Given the description of an element on the screen output the (x, y) to click on. 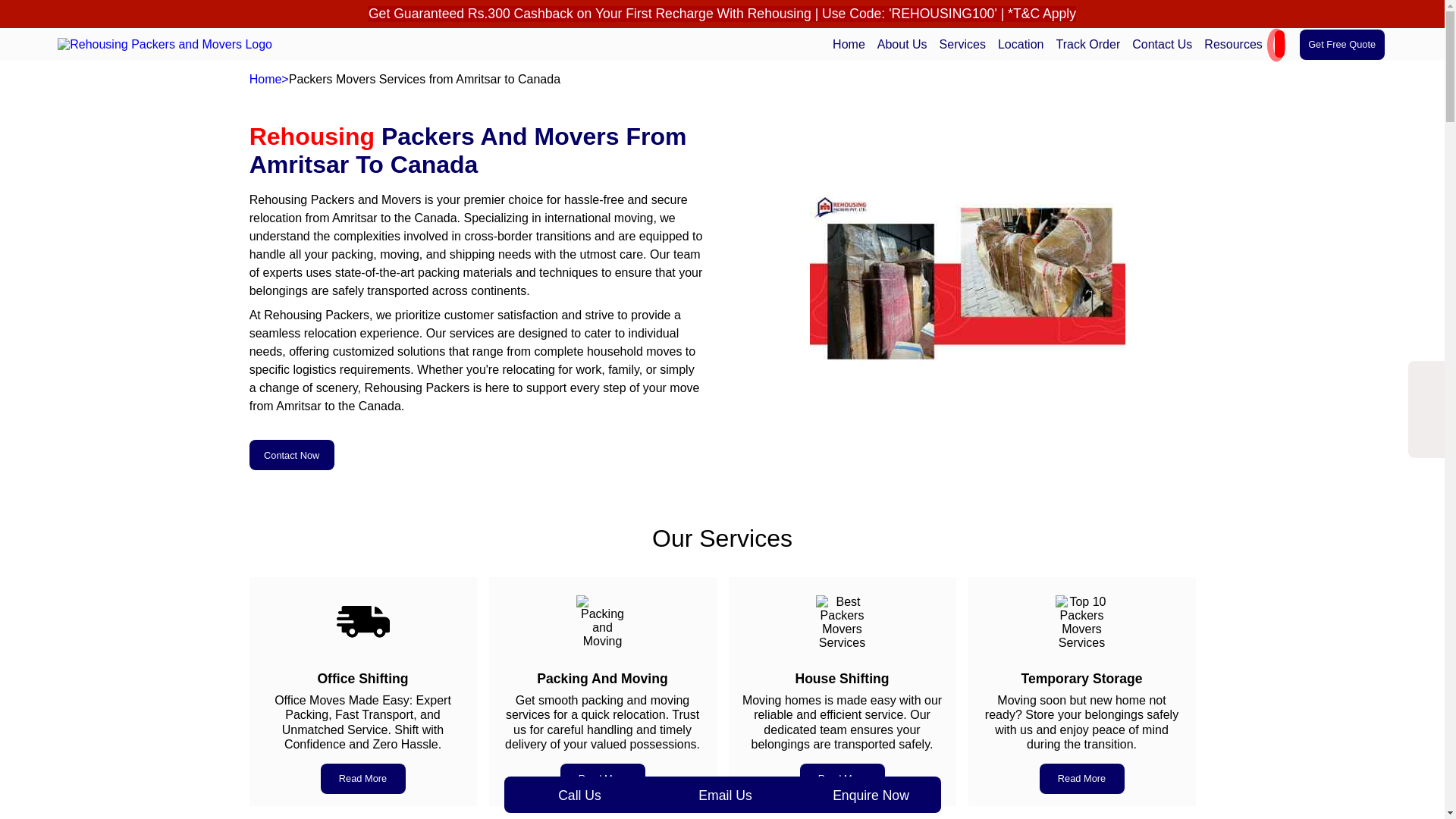
Contact Us (1162, 43)
Bill For Claim (1233, 62)
Dehli (1021, 62)
Rehousing Packers and Movers Logo (165, 44)
Gallery (1219, 62)
Pet Transportation (991, 65)
Reviews (1222, 62)
View All Location (1046, 62)
Office Shifting (981, 65)
Gurugram (1032, 62)
Top 10 Packers Movers Services from Amritsar to Canada (1081, 621)
Best Packers Movers Services from Amritsar to Canada (842, 621)
View All Services (988, 65)
Rate Calculator (1237, 62)
Home (848, 43)
